Given the description of an element on the screen output the (x, y) to click on. 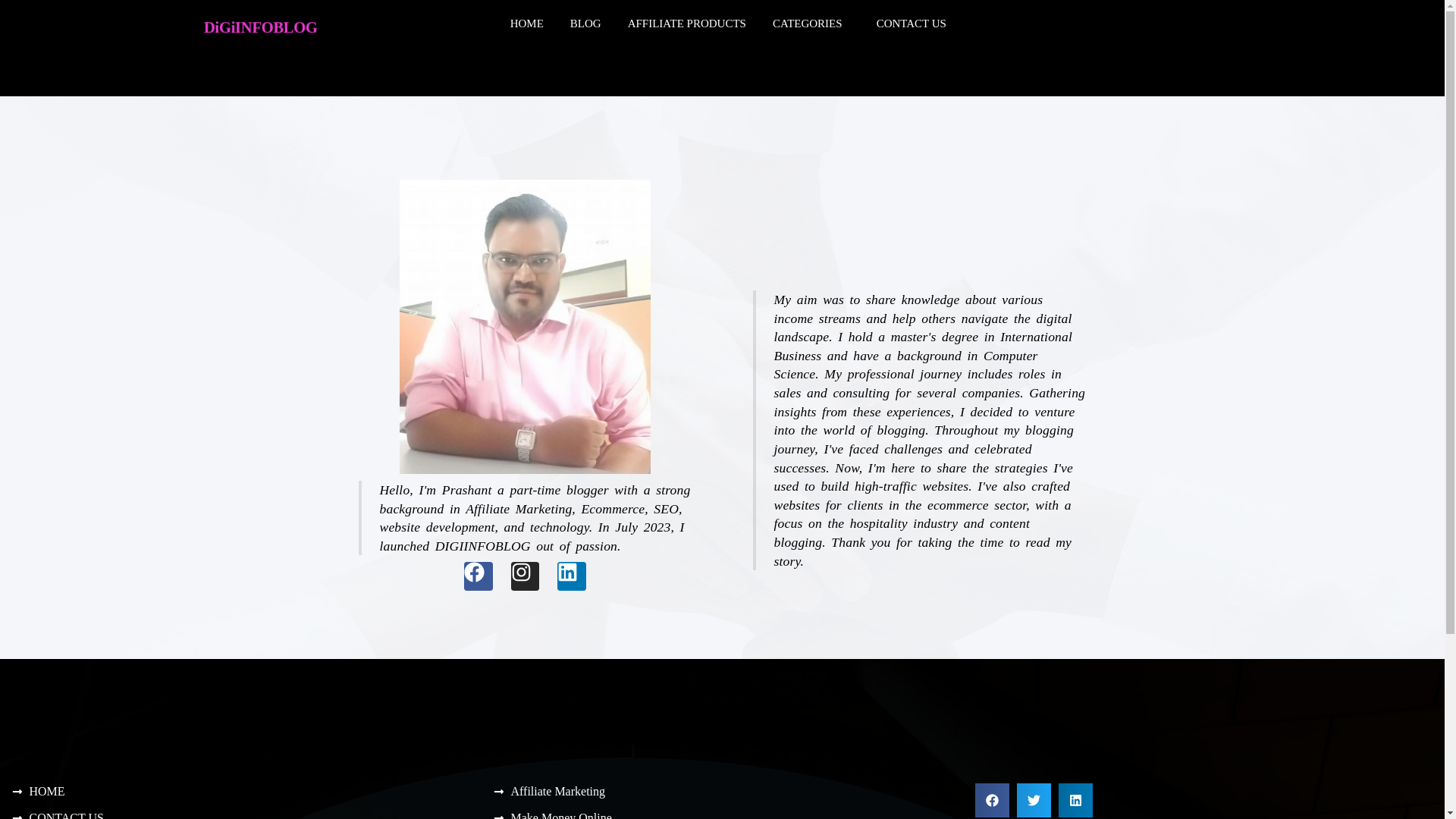
Make Money Online (721, 814)
CONTACT US (239, 814)
CONTACT US (914, 23)
AFFILIATE PRODUCTS (686, 23)
HOME (526, 23)
CATEGORIES (811, 23)
BLOG (585, 23)
Affiliate Marketing (721, 790)
HOME (239, 790)
